Given the description of an element on the screen output the (x, y) to click on. 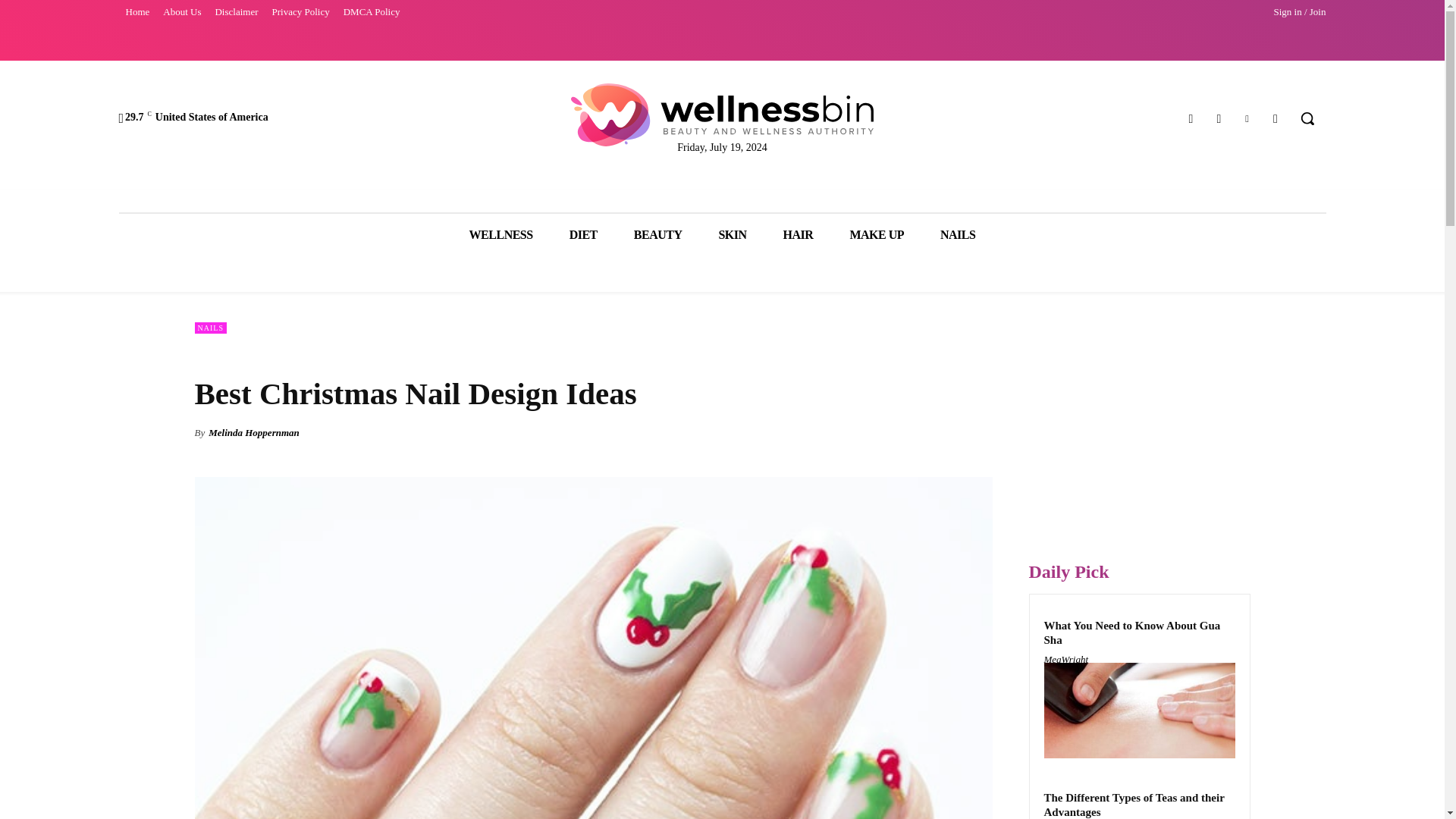
HAIR (798, 234)
Twitter (1275, 118)
About Us (181, 12)
BEAUTY (657, 234)
Instagram (1218, 118)
DMCA Policy (371, 12)
Disclaimer (236, 12)
NAILS (956, 234)
WELLNESS (501, 234)
MAKE UP (876, 234)
Privacy Policy (300, 12)
DIET (583, 234)
Pinterest (1246, 118)
Facebook (1190, 118)
Home (136, 12)
